Given the description of an element on the screen output the (x, y) to click on. 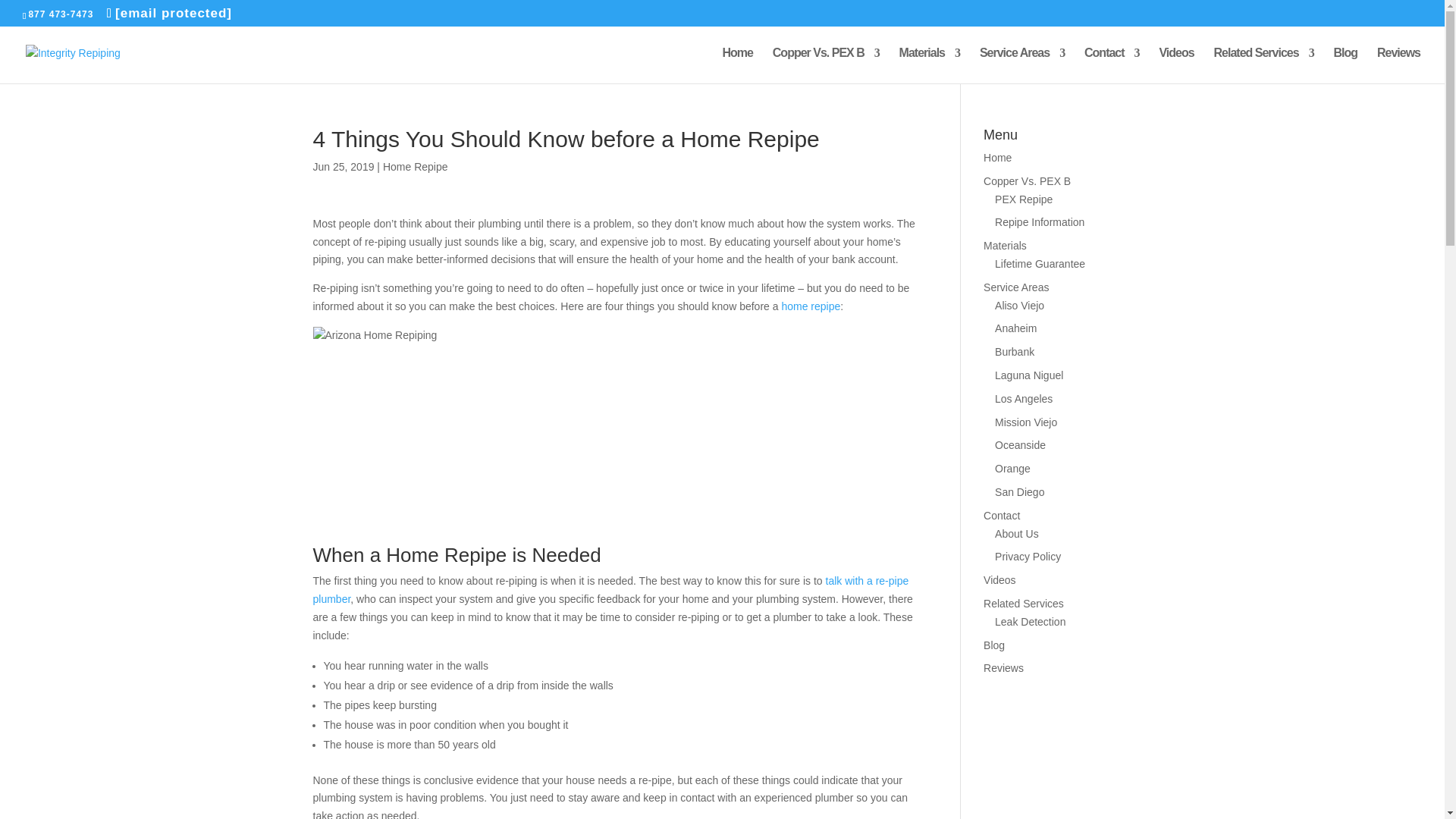
Materials (929, 65)
home repipe (810, 306)
Reviews (1399, 65)
Related Services (1264, 65)
Home Repipe (415, 166)
Service Areas (1021, 65)
Copper Vs. PEX B (826, 65)
Videos (1175, 65)
talk with a re-pipe plumber (610, 589)
Contact (1112, 65)
